Given the description of an element on the screen output the (x, y) to click on. 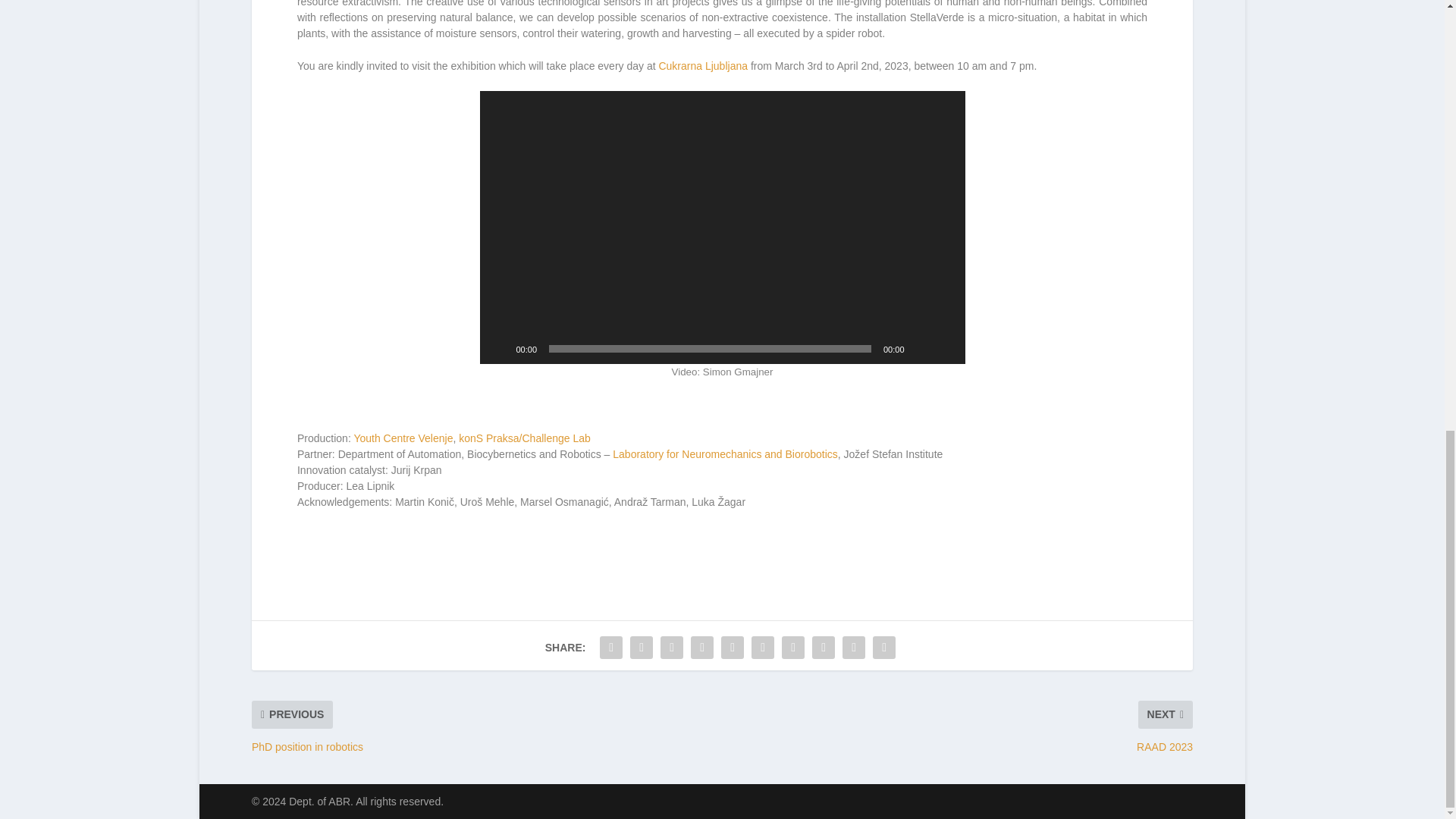
Share "Robot spider on Konsekvence exhibition" via Tumblr (702, 647)
Share "Robot spider on Konsekvence exhibition" via Print (884, 647)
Play (499, 348)
Mute (920, 348)
Share "Robot spider on Konsekvence exhibition" via Twitter (641, 647)
Share "Robot spider on Konsekvence exhibition" via LinkedIn (762, 647)
Cukrarna Ljubljana (703, 65)
Share "Robot spider on Konsekvence exhibition" via Email (853, 647)
Share "Robot spider on Konsekvence exhibition" via Facebook (610, 647)
Share "Robot spider on Konsekvence exhibition" via Pinterest (732, 647)
Fullscreen (944, 348)
Share "Robot spider on Konsekvence exhibition" via Buffer (792, 647)
